Given the description of an element on the screen output the (x, y) to click on. 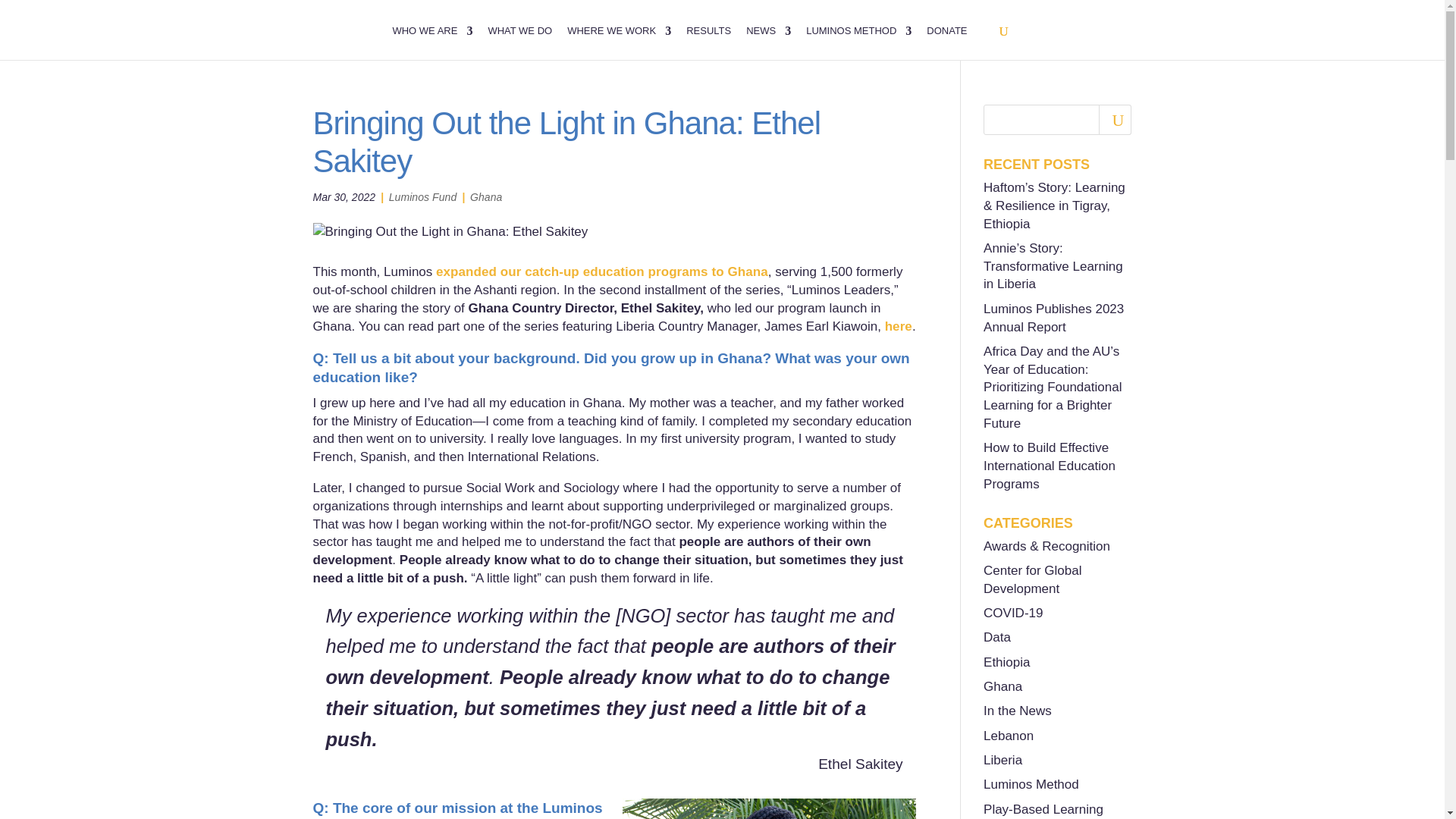
WHAT WE DO (519, 42)
RESULTS (707, 42)
WHO WE ARE (431, 42)
LUMINOS METHOD (858, 42)
NEWS (767, 42)
WHERE WE WORK (619, 42)
Search (1115, 119)
Ghana (486, 196)
Search (1115, 119)
DONATE (946, 42)
Luminos Fund (422, 196)
here (898, 326)
Posts by Luminos Fund (422, 196)
expanded our catch-up education programs to Ghana (601, 271)
